Given the description of an element on the screen output the (x, y) to click on. 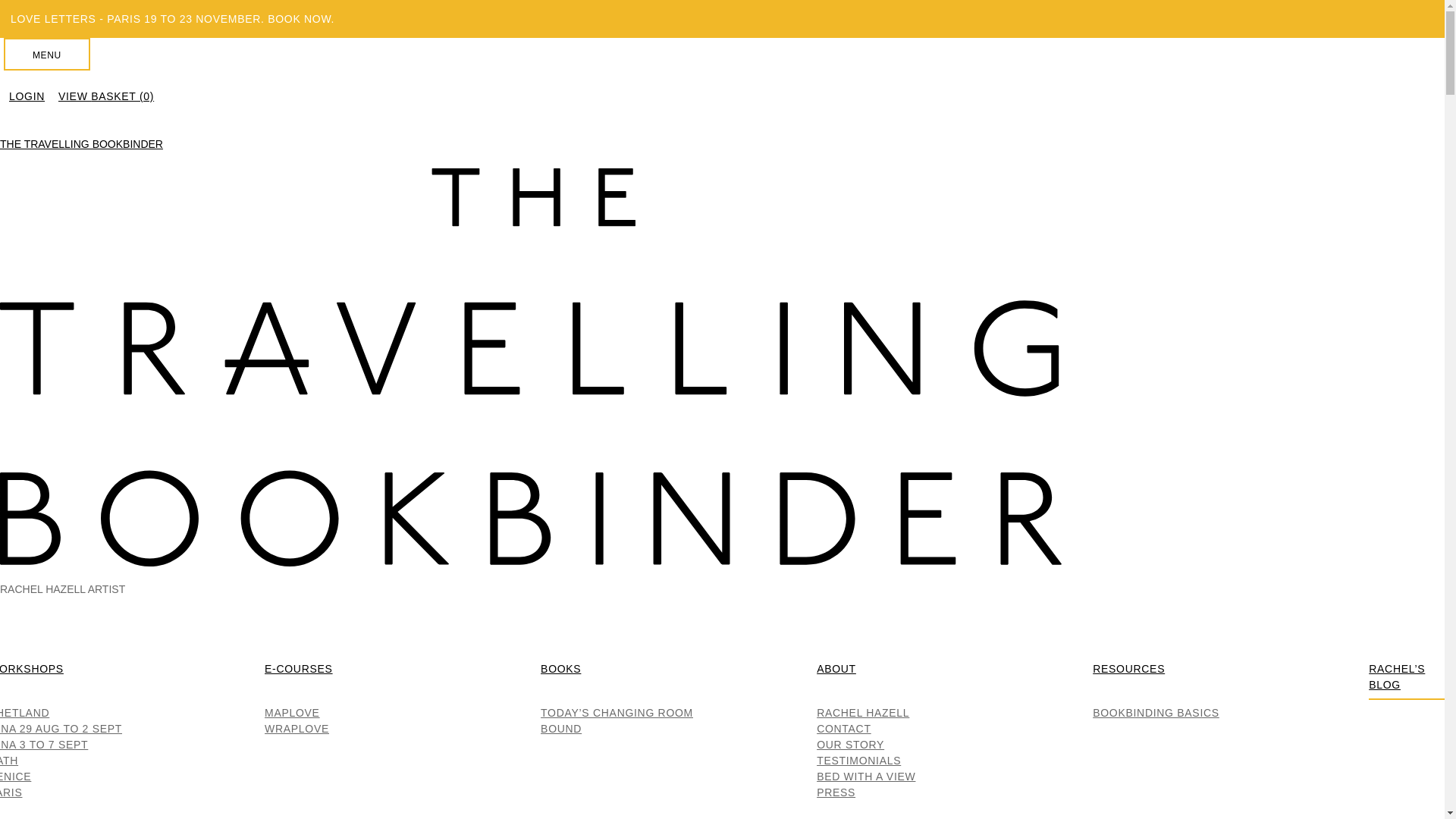
PRESS (836, 792)
LOGIN (26, 96)
Login to your Account (26, 96)
IONA 29 AUG TO 2 SEPT (61, 728)
Bookbinding Basics (1128, 669)
THE TRAVELLING BOOKBINDER (81, 143)
E-COURSES (298, 669)
BOOKBINDING BASICS (1156, 712)
WRAPLOVE (296, 728)
View your Shopping Basket (103, 96)
VENICE (15, 775)
LOVE LETTERS - PARIS 19 TO 23 NOVEMBER. BOOK NOW. (722, 18)
TESTIMONIALS (858, 760)
RACHEL HAZELL (862, 712)
PARIS (10, 792)
